Given the description of an element on the screen output the (x, y) to click on. 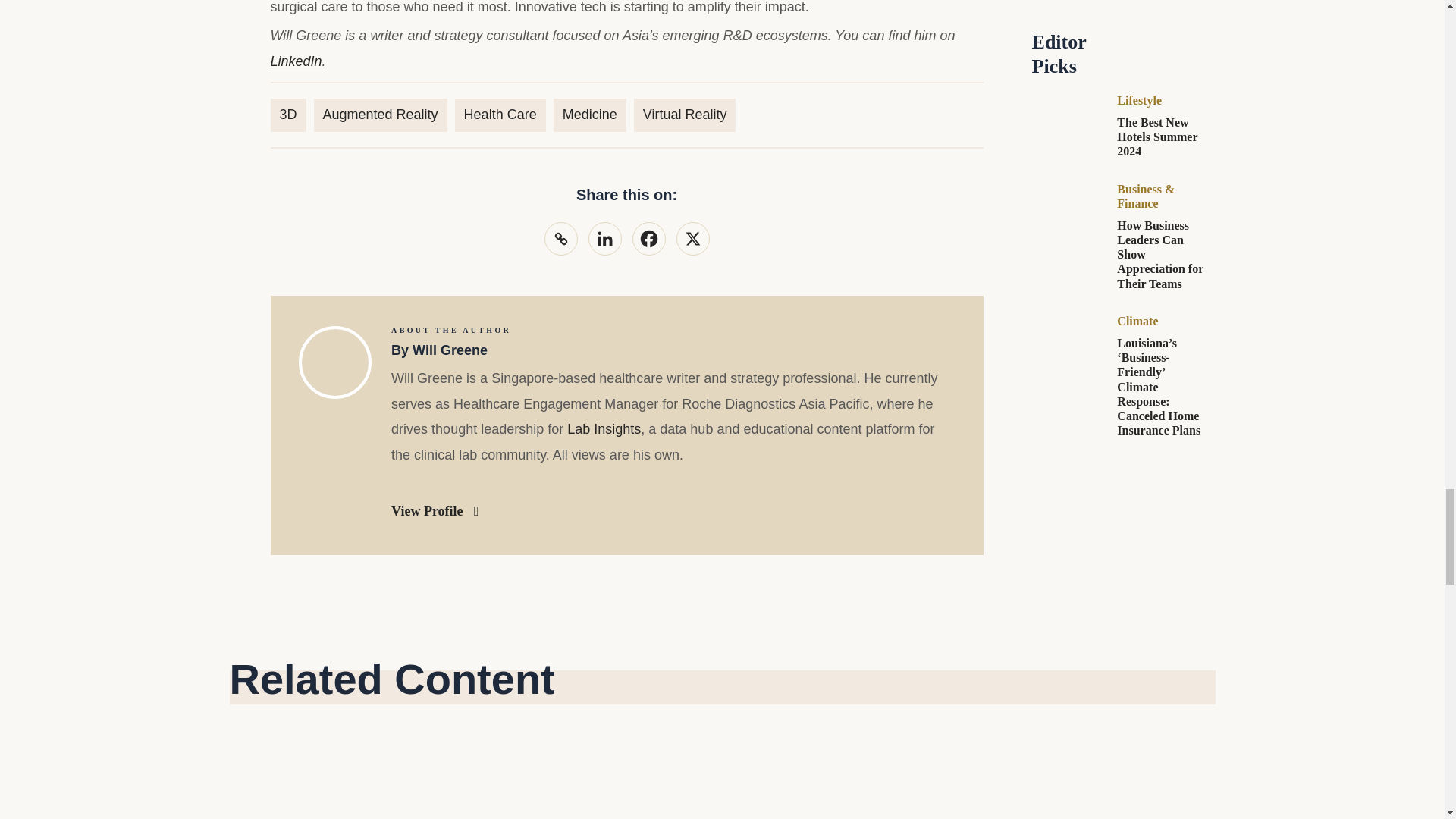
Facebook (648, 238)
3D (287, 114)
Virtual reality (684, 114)
Linkedin (604, 238)
Health care (500, 114)
Copy Link (561, 238)
X (693, 238)
augmented reality (380, 114)
Medicine (589, 114)
